Given the description of an element on the screen output the (x, y) to click on. 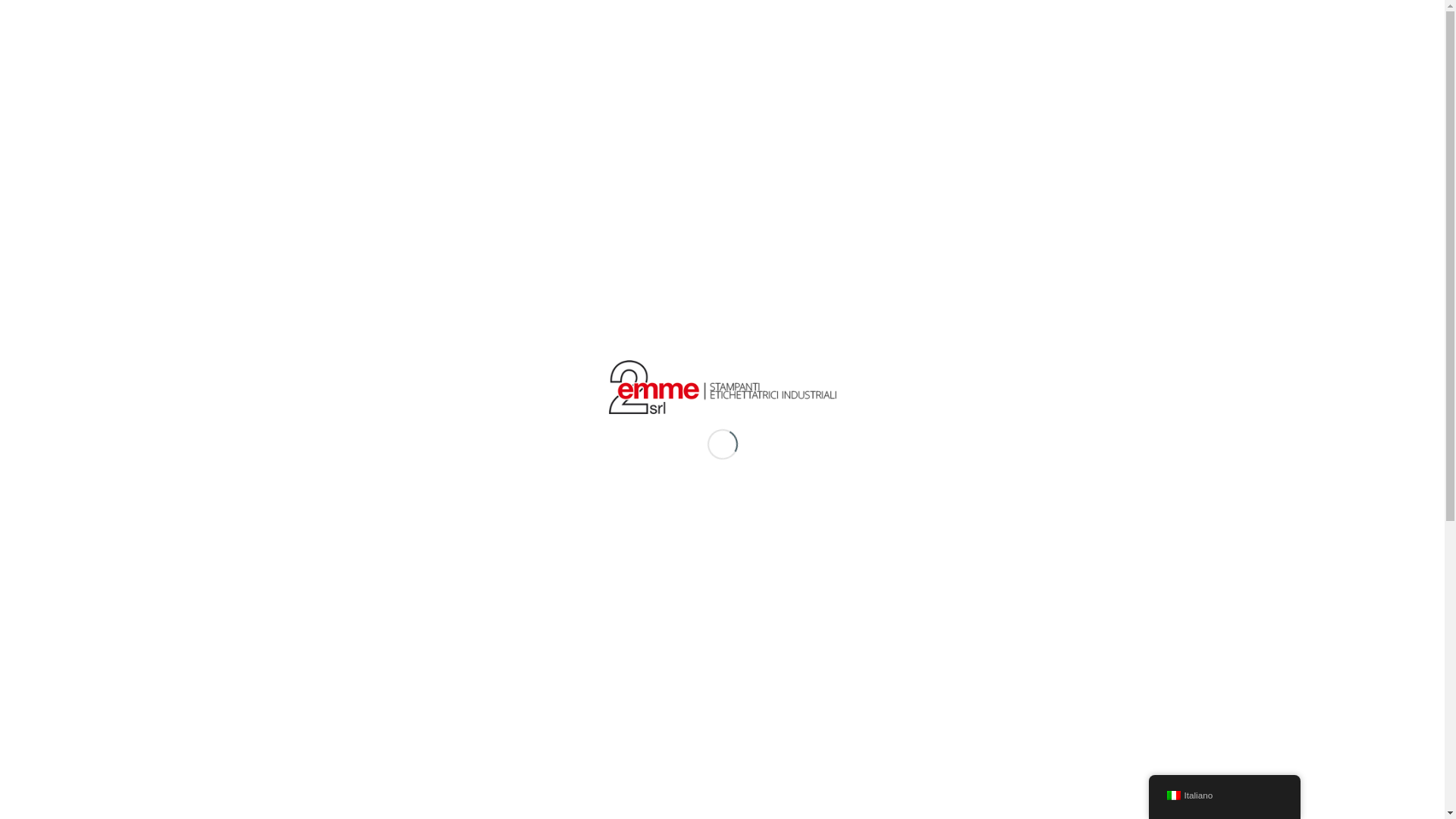
AZIENDA Element type: text (1023, 67)
Italiano Element type: hover (1172, 795)
CATALOGO Element type: text (1092, 67)
NEWS Element type: text (1156, 67)
Caricamento Element type: hover (721, 386)
Lavora con noi Element type: text (631, 635)
people Element type: hover (425, 289)
HOME Element type: text (966, 67)
Italiano Element type: text (1223, 794)
